Given the description of an element on the screen output the (x, y) to click on. 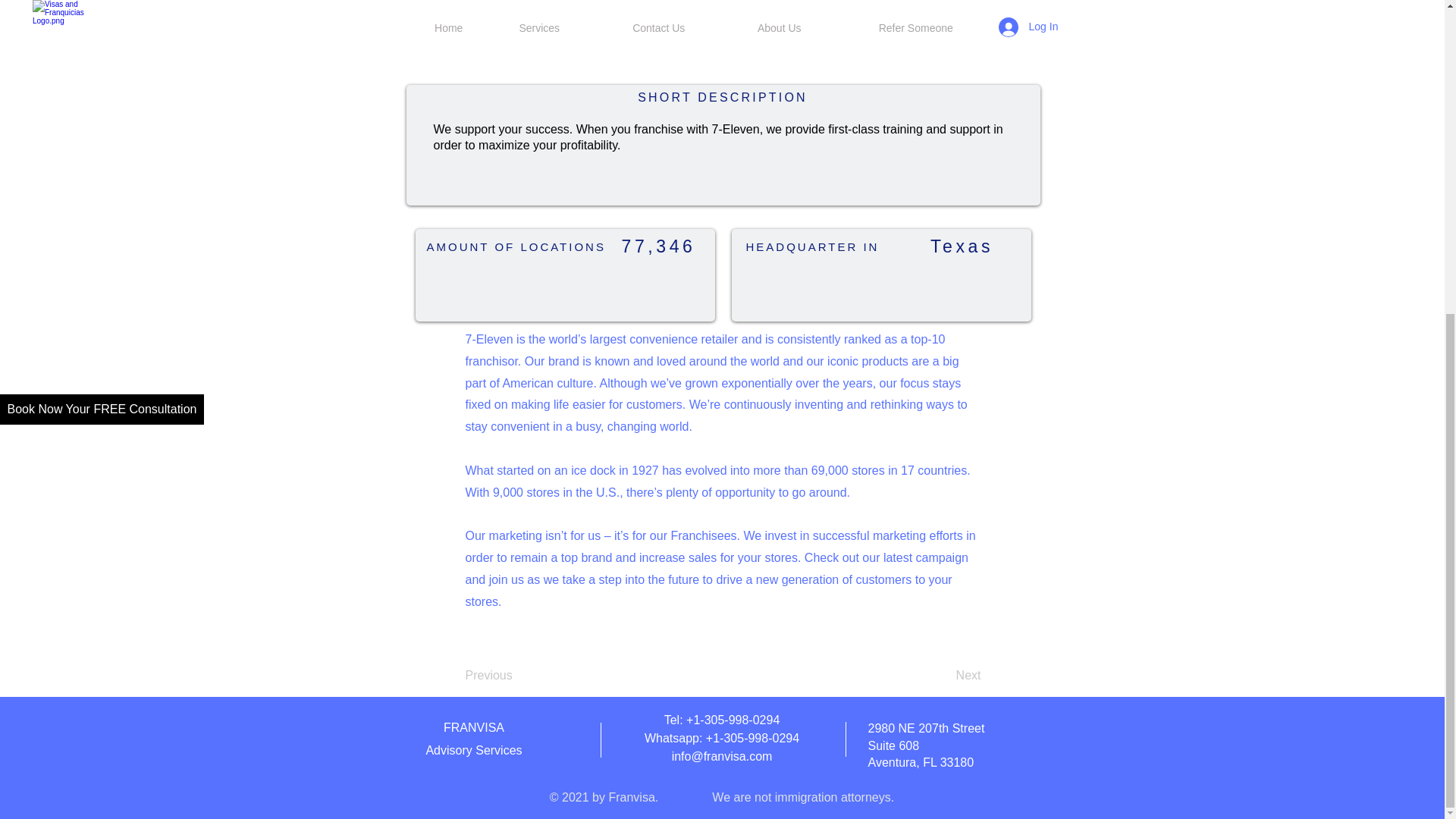
Next (943, 675)
Previous (515, 675)
